Given the description of an element on the screen output the (x, y) to click on. 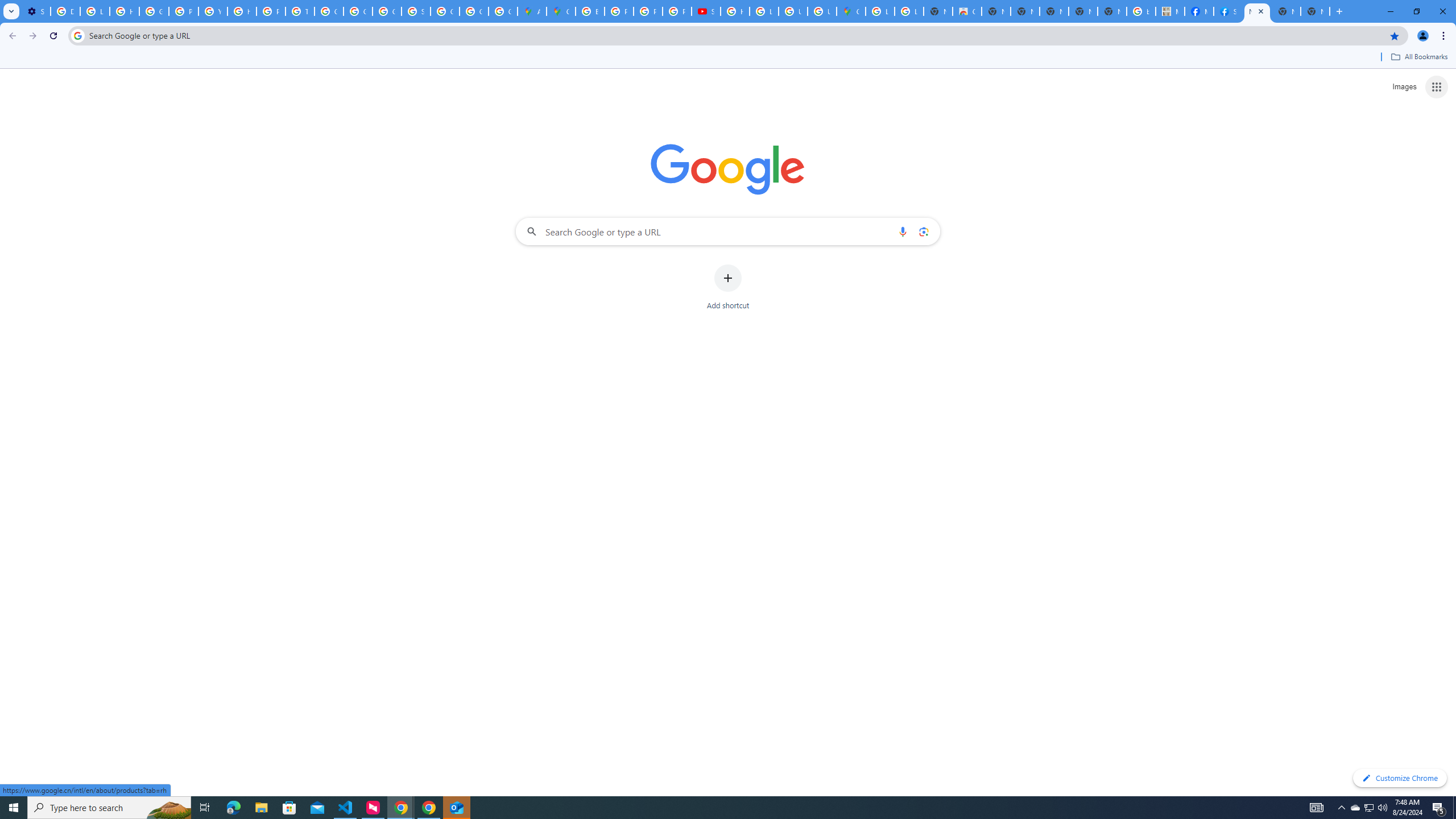
Chrome Web Store (967, 11)
Sign in - Google Accounts (415, 11)
Privacy Help Center - Policies Help (648, 11)
Delete photos & videos - Computer - Google Photos Help (65, 11)
Privacy Help Center - Policies Help (619, 11)
Bookmarks (728, 58)
Settings - Customize profile (35, 11)
Add shortcut (727, 287)
